Given the description of an element on the screen output the (x, y) to click on. 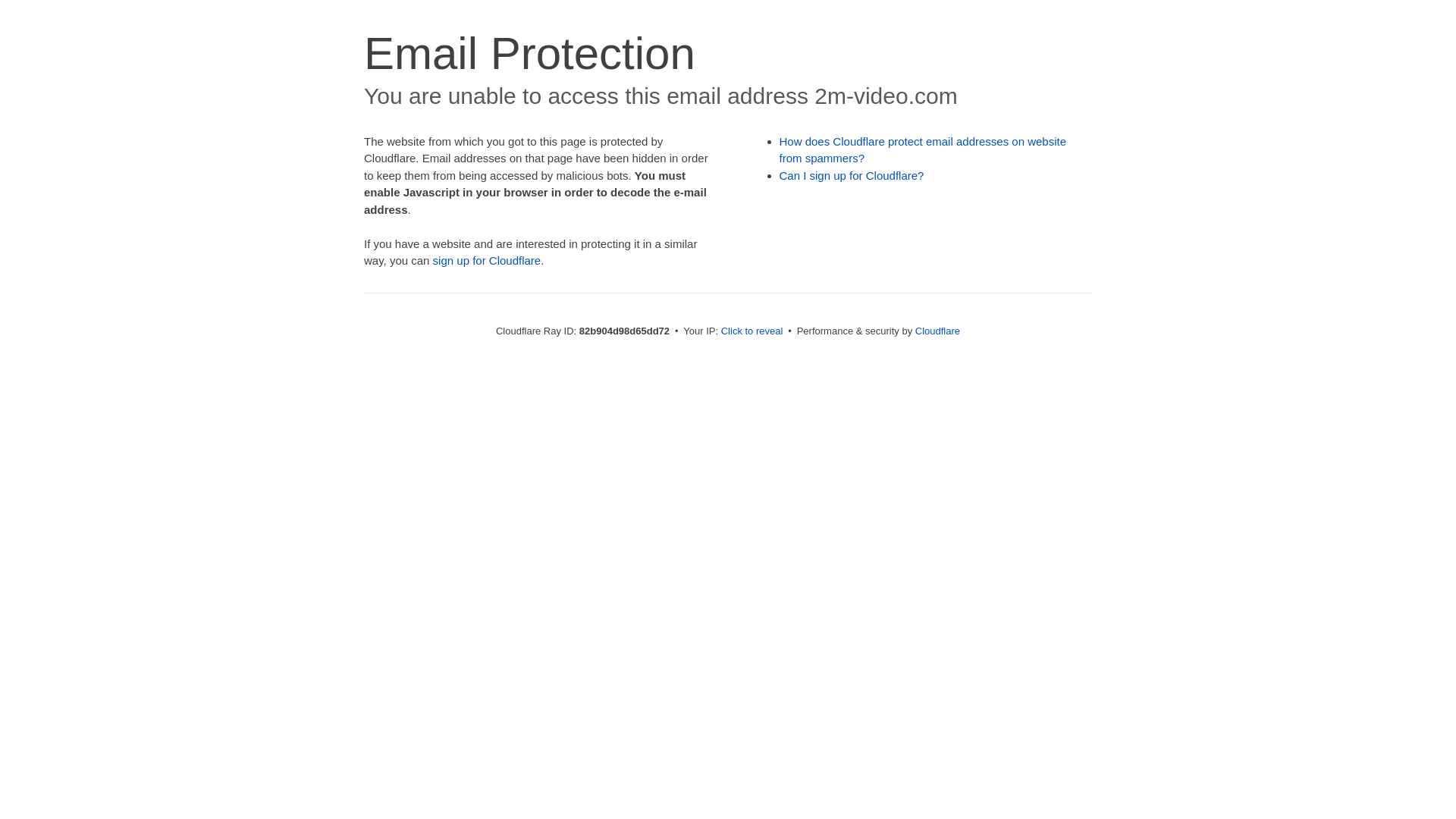
Click to reveal Element type: text (752, 330)
Cloudflare Element type: text (937, 330)
sign up for Cloudflare Element type: text (487, 260)
Can I sign up for Cloudflare? Element type: text (851, 175)
